Given the description of an element on the screen output the (x, y) to click on. 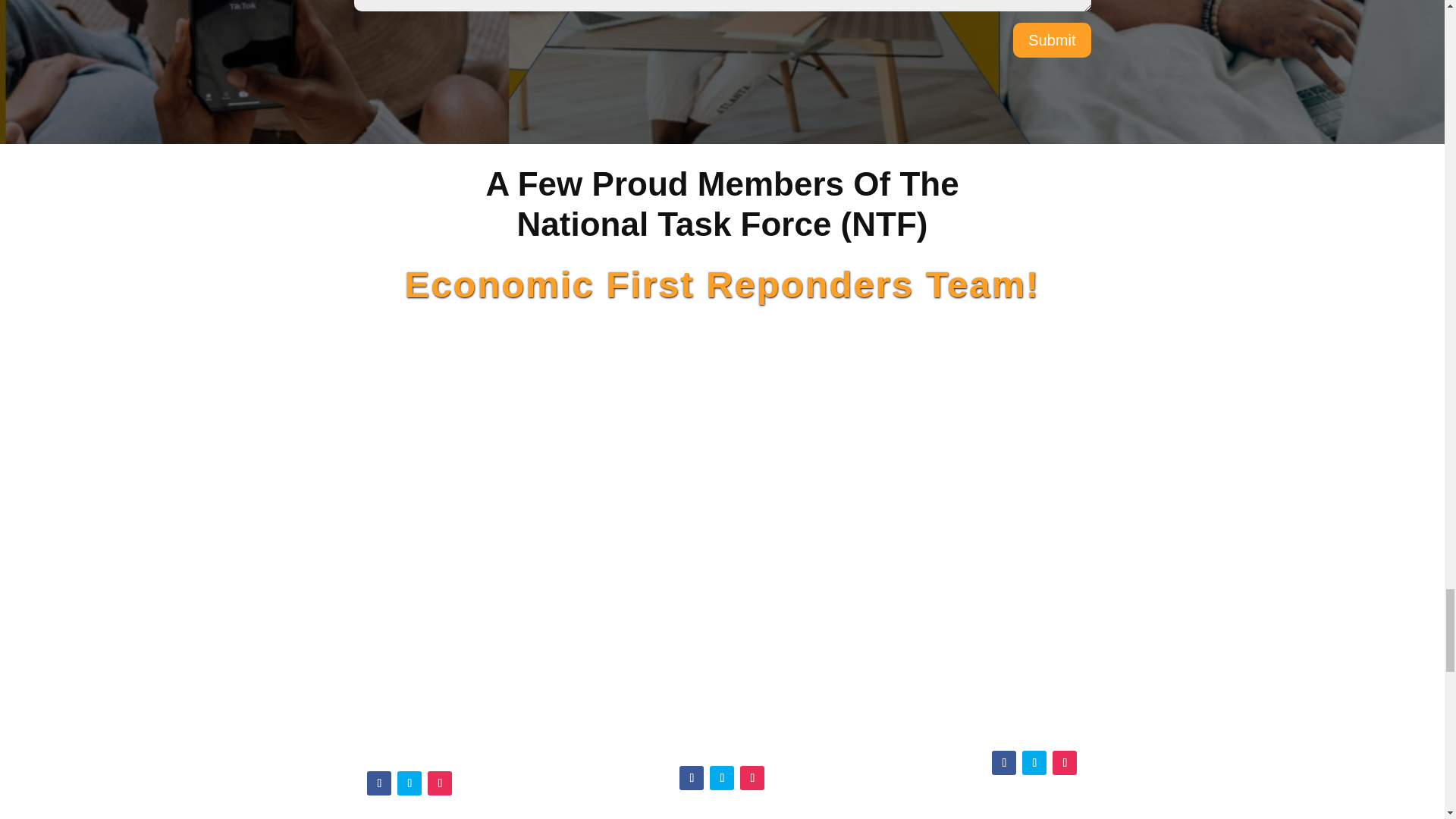
Follow on Twitter (409, 783)
Follow on Twitter (721, 777)
Follow on Facebook (691, 777)
Follow on Facebook (378, 783)
Follow on Instagram (751, 777)
Follow on Instagram (439, 783)
